Given the description of an element on the screen output the (x, y) to click on. 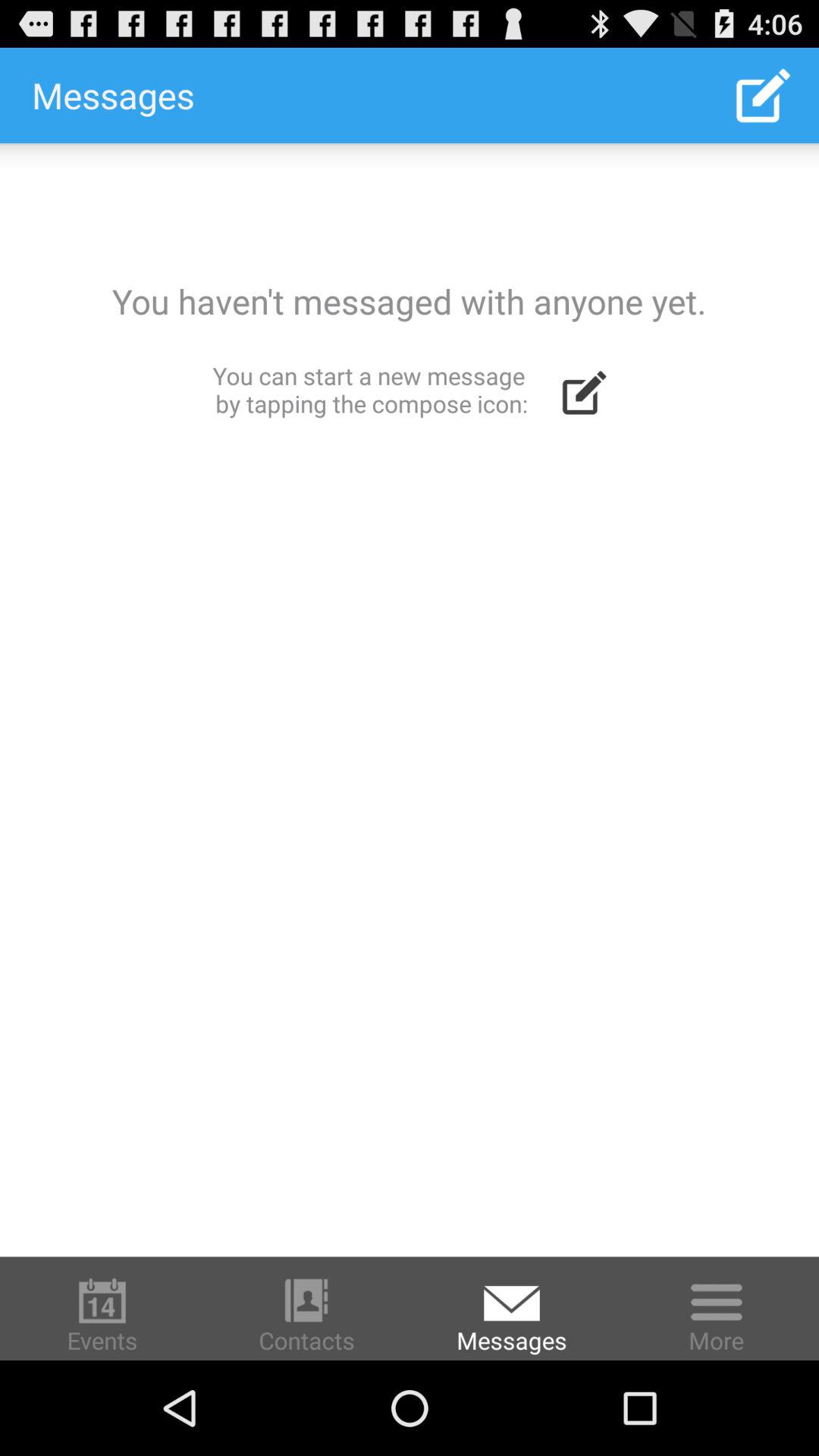
turn off icon at the center (409, 699)
